Given the description of an element on the screen output the (x, y) to click on. 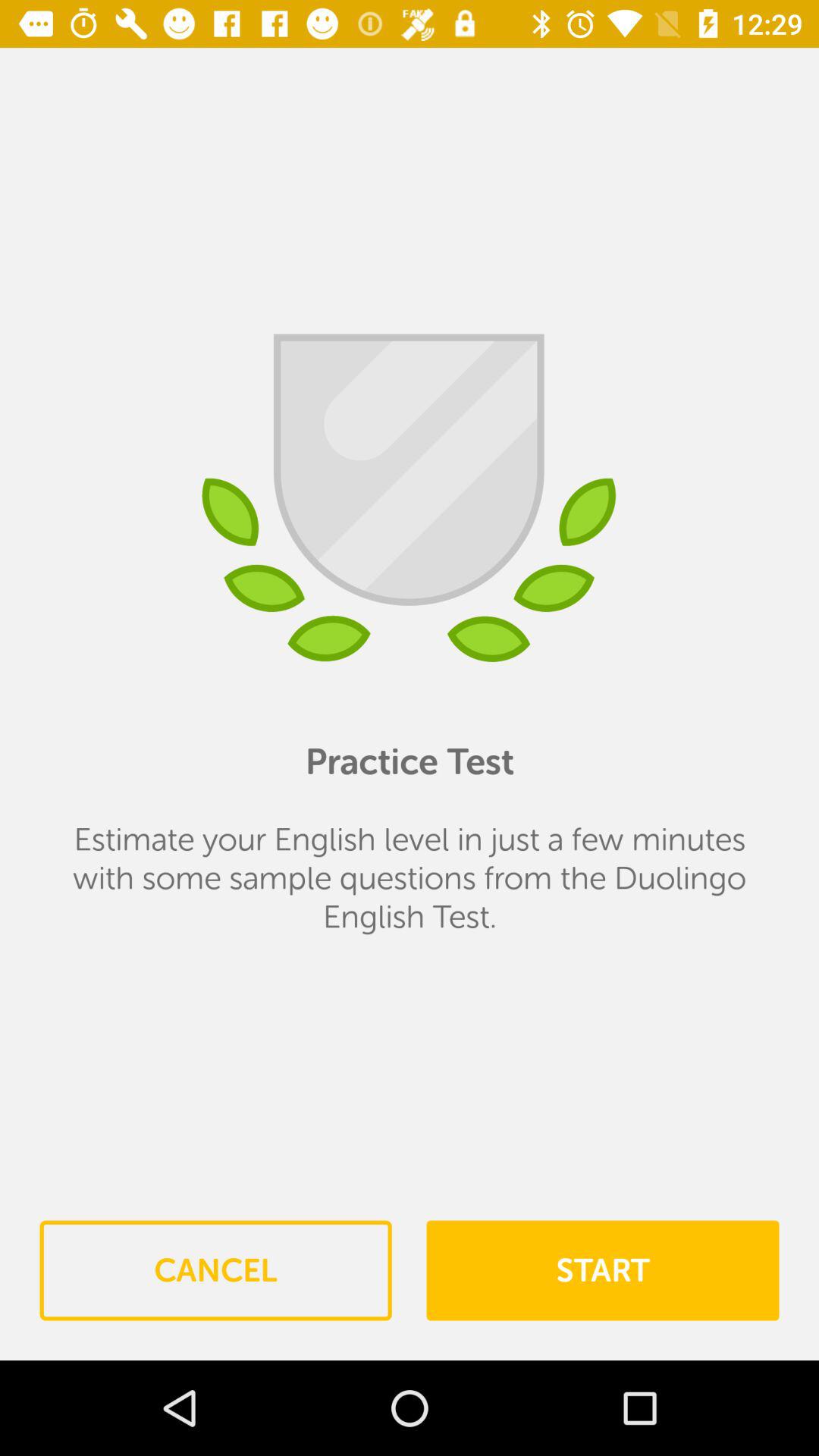
press item below estimate your english item (602, 1270)
